Given the description of an element on the screen output the (x, y) to click on. 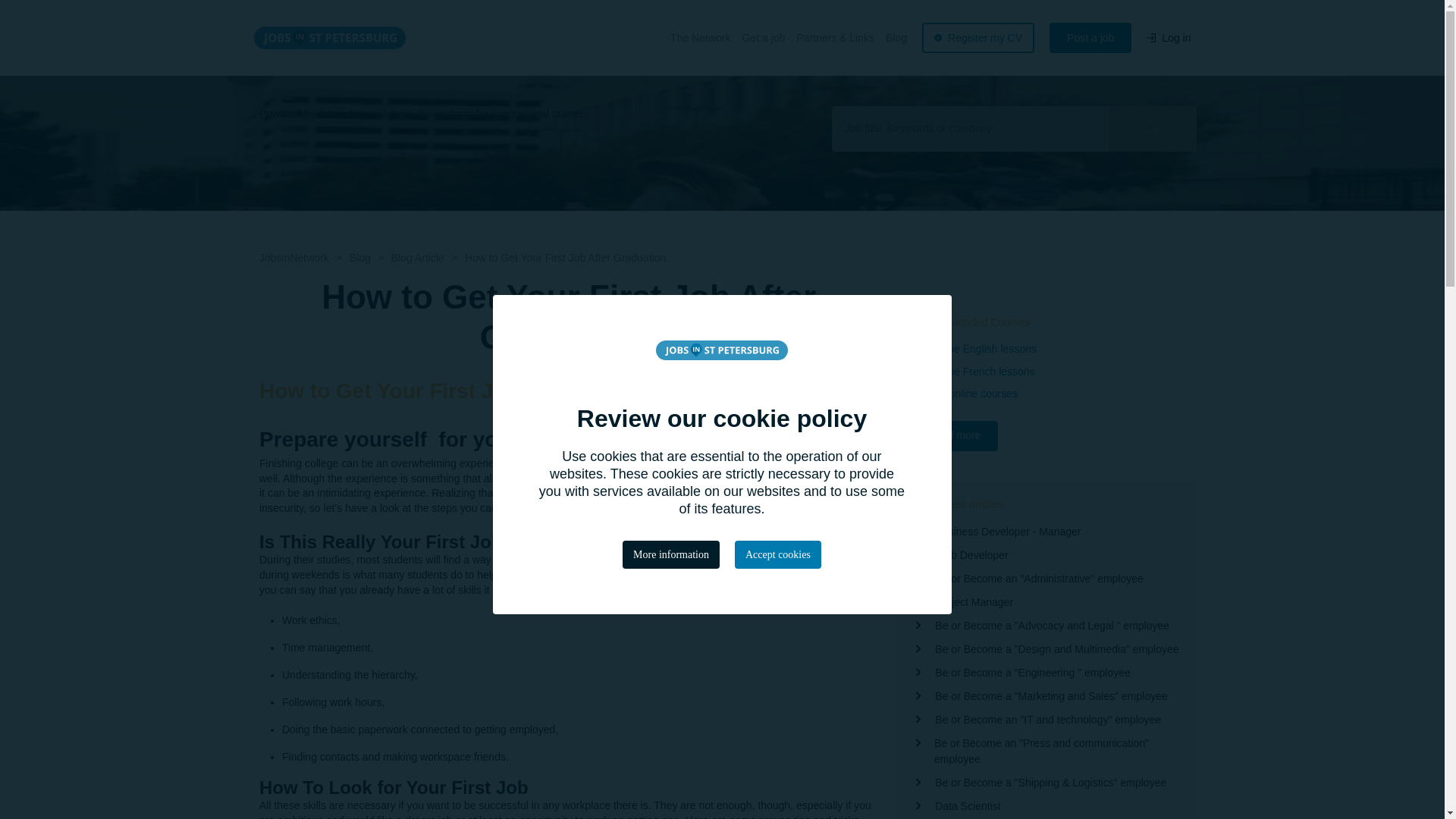
JobsinNetwork (294, 257)
Blog Article (417, 257)
Post a job (1090, 37)
Be or Become a "Engineering " employee (1031, 672)
Be or Become an "Press and communication" employee (1057, 751)
The Network (699, 37)
Register my CV (977, 37)
Find more (956, 435)
Web Developer (970, 555)
Log in (1169, 37)
Blog (360, 257)
Be or Become an "Administrative" employee (1038, 578)
Be or Become a "Design and Multimedia" employee (1055, 649)
Blog Article (417, 257)
Online French lessons (980, 372)
